Given the description of an element on the screen output the (x, y) to click on. 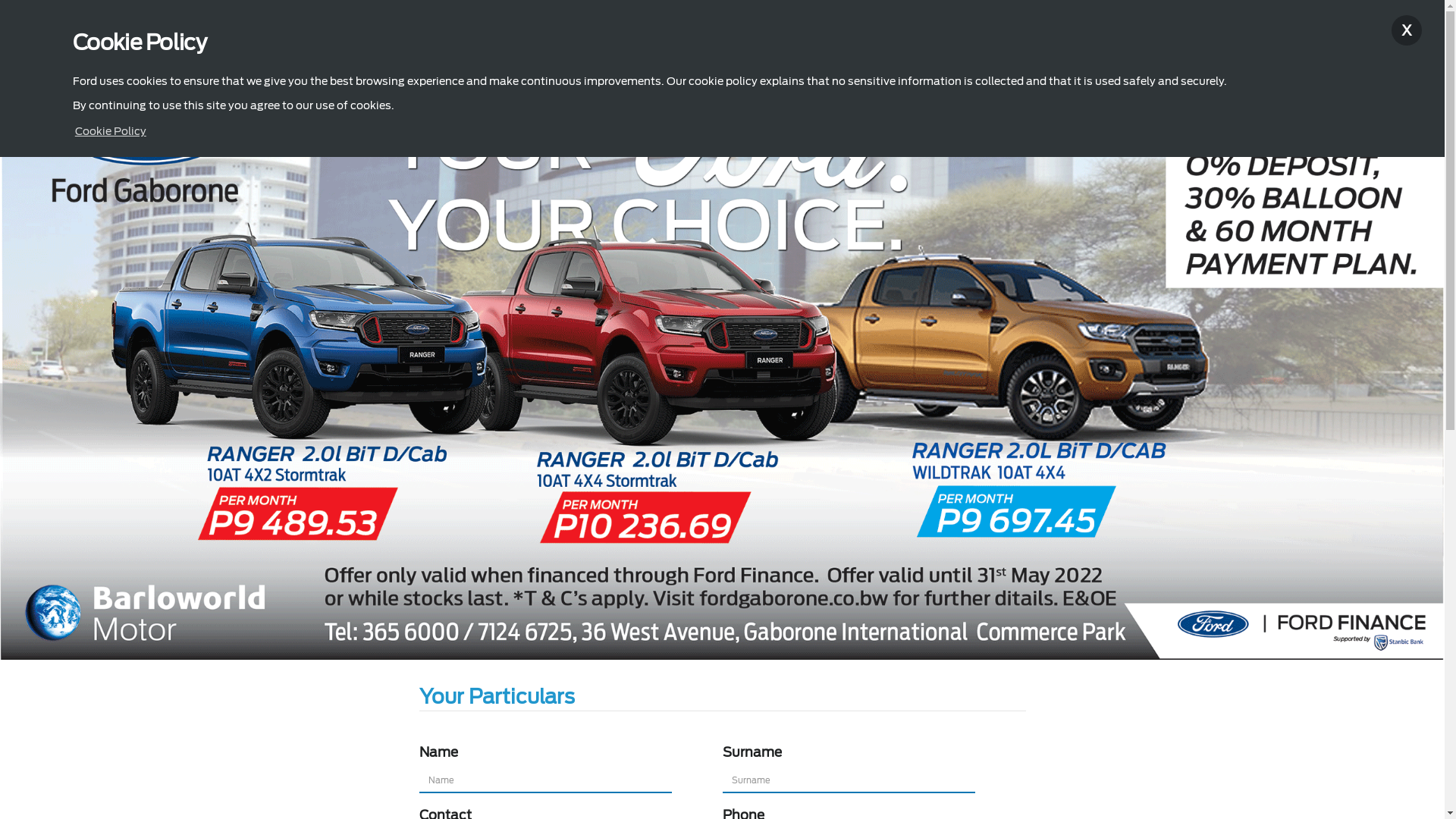
Services Element type: text (476, 27)
Sign in Element type: text (1153, 26)
X Element type: text (1406, 30)
Models Element type: text (161, 27)
We Buy Ford Cars Element type: text (567, 27)
Meet the team Element type: text (324, 27)
Pre-Owned Element type: text (233, 27)
Find a Dealership Element type: text (1354, 26)
Contact Us Element type: text (1242, 26)
Cookie Policy Element type: text (110, 131)
Specials Element type: text (408, 27)
